Given the description of an element on the screen output the (x, y) to click on. 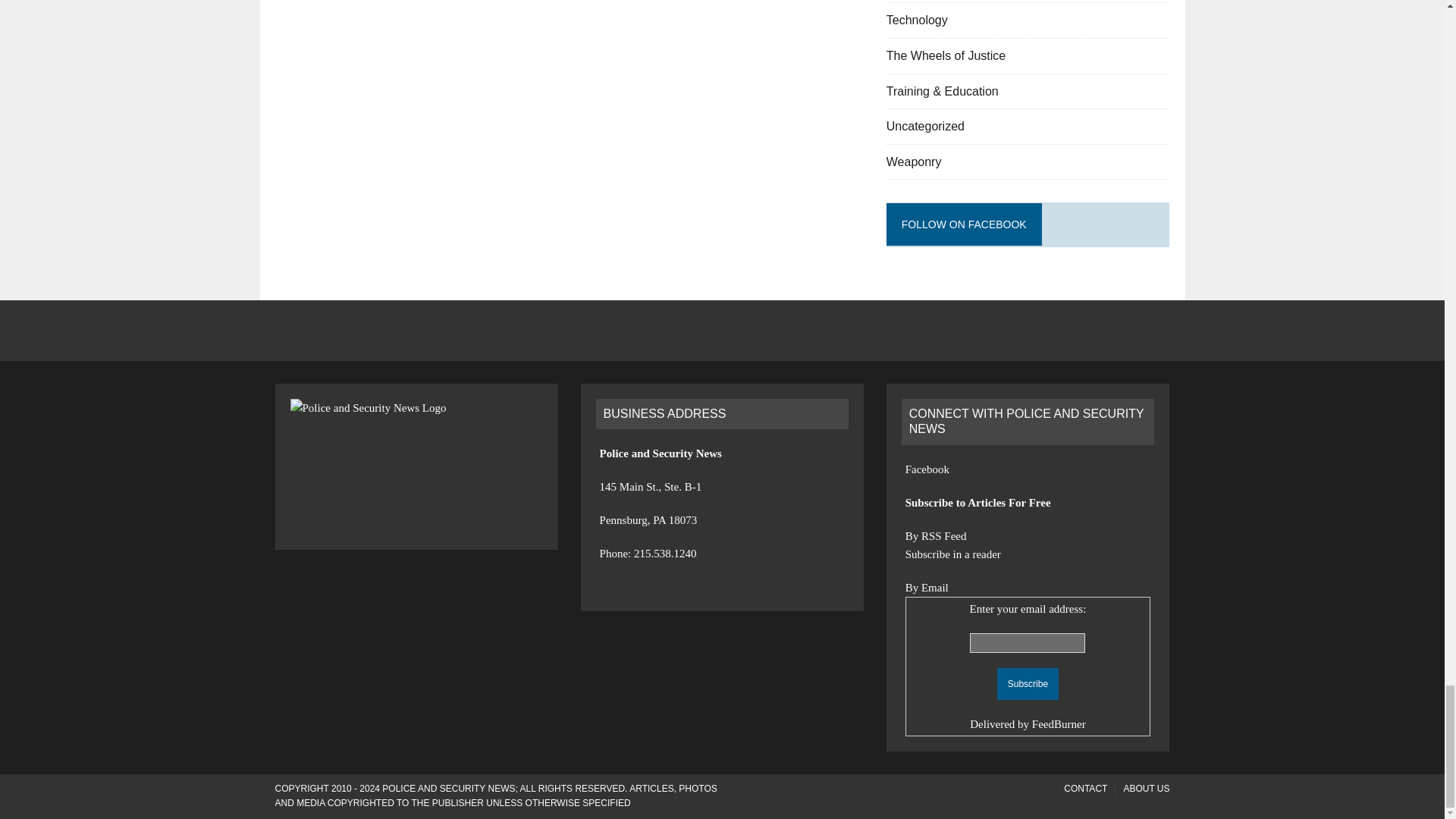
Subscribe (1027, 684)
